Given the description of an element on the screen output the (x, y) to click on. 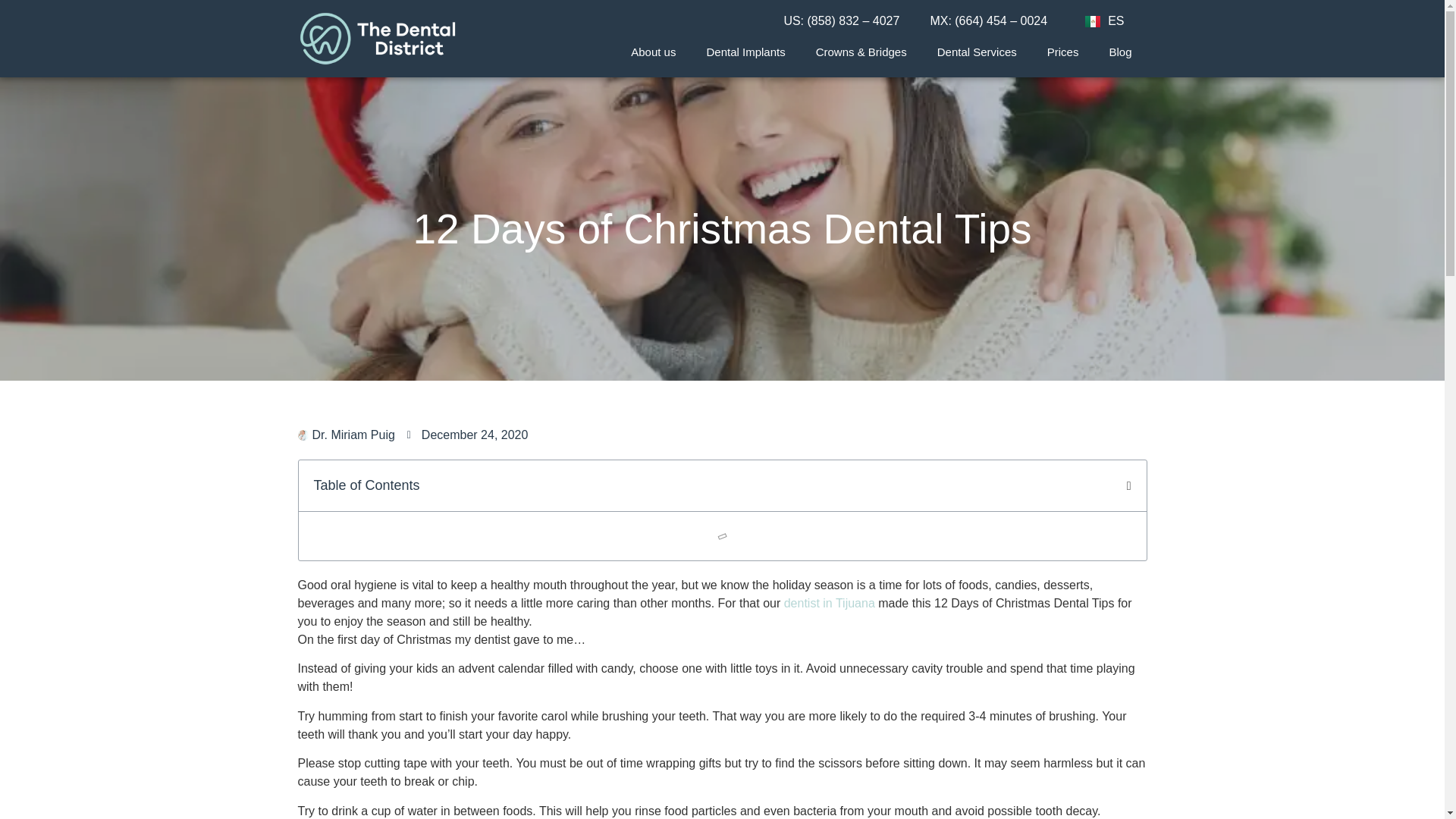
About us (652, 52)
ES (1104, 21)
Prices (1063, 52)
Blog (1120, 52)
Dental Services (976, 52)
Dental Implants (744, 52)
